Given the description of an element on the screen output the (x, y) to click on. 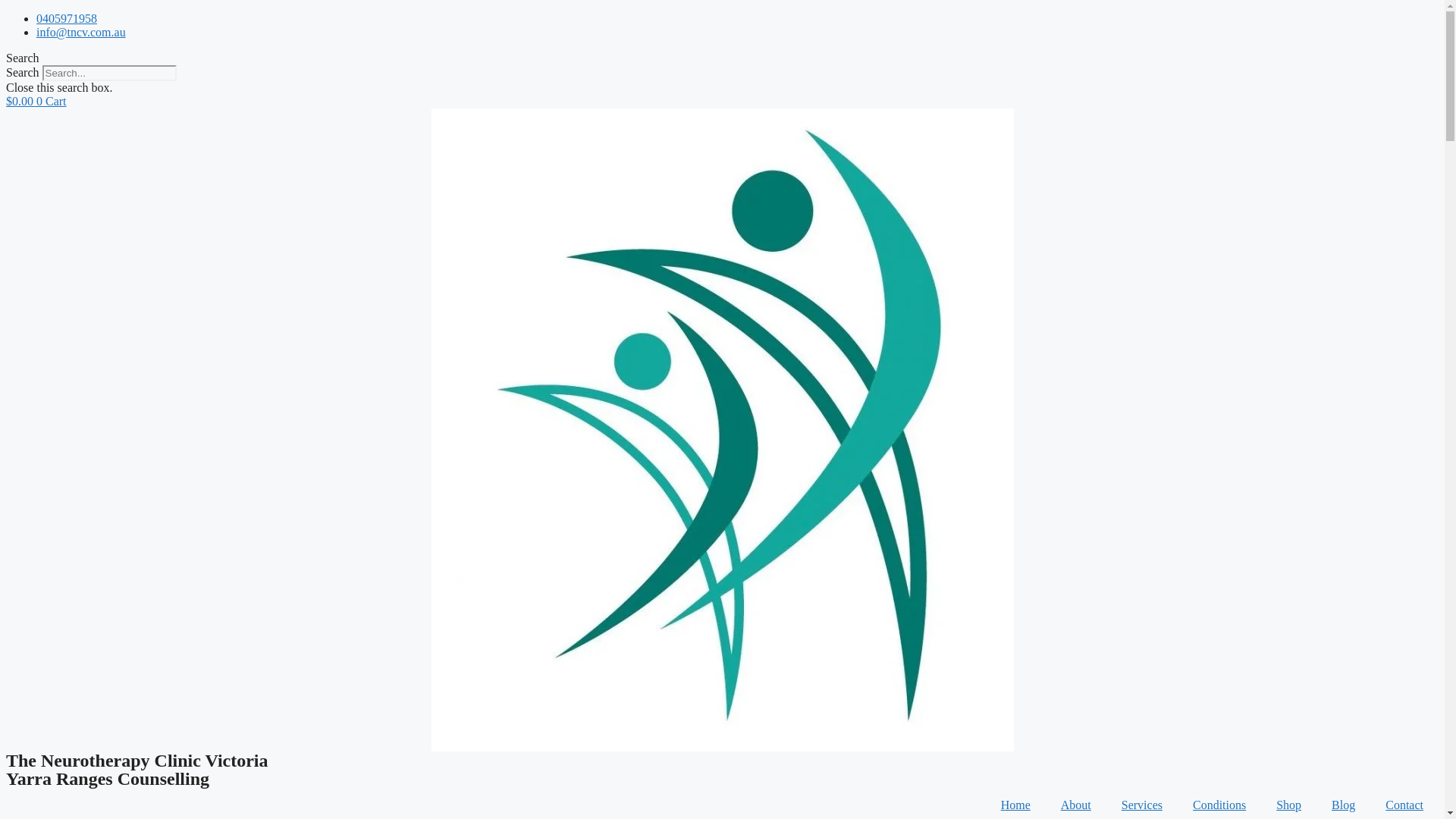
Skip to content Element type: text (5, 11)
$0.00 0 Cart Element type: text (36, 100)
0405971958 Element type: text (66, 18)
info@tncv.com.au Element type: text (80, 31)
